Given the description of an element on the screen output the (x, y) to click on. 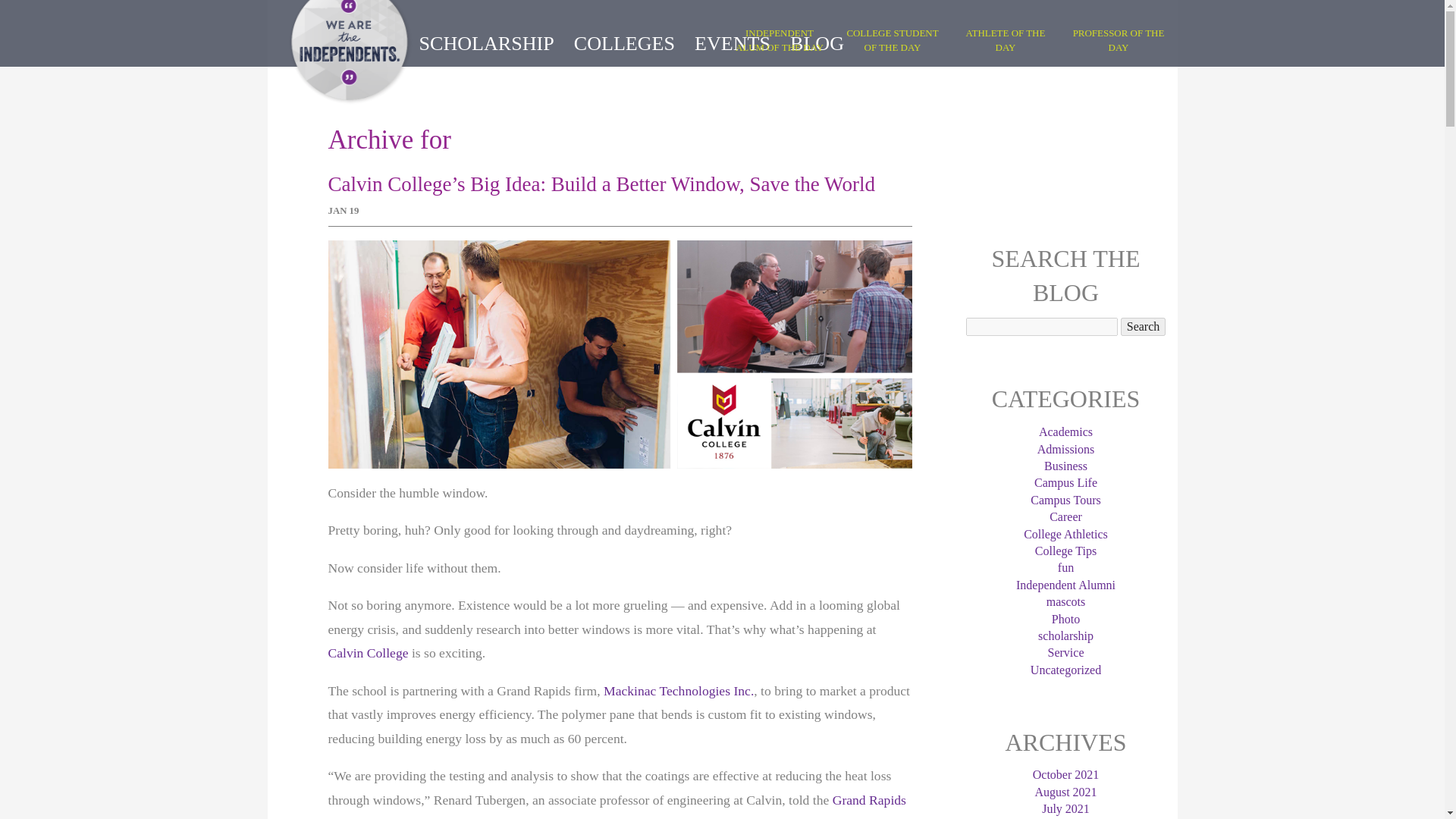
Search (1143, 326)
Campus Life (1065, 481)
ATHLETE OF THE DAY (1005, 39)
August 2021 (1064, 791)
Uncategorized (1065, 669)
SCHOLARSHIP (486, 42)
October 2021 (1065, 774)
College Tips (1065, 550)
Grand Rapids Business Journal (616, 805)
Mackinac Technologies Inc. (679, 690)
College Athletics (1065, 533)
COLLEGE STUDENT OF THE DAY (891, 39)
Career (1065, 516)
INDEPENDENT ALUM OF THE DAY (779, 39)
Calvin College (367, 652)
